Given the description of an element on the screen output the (x, y) to click on. 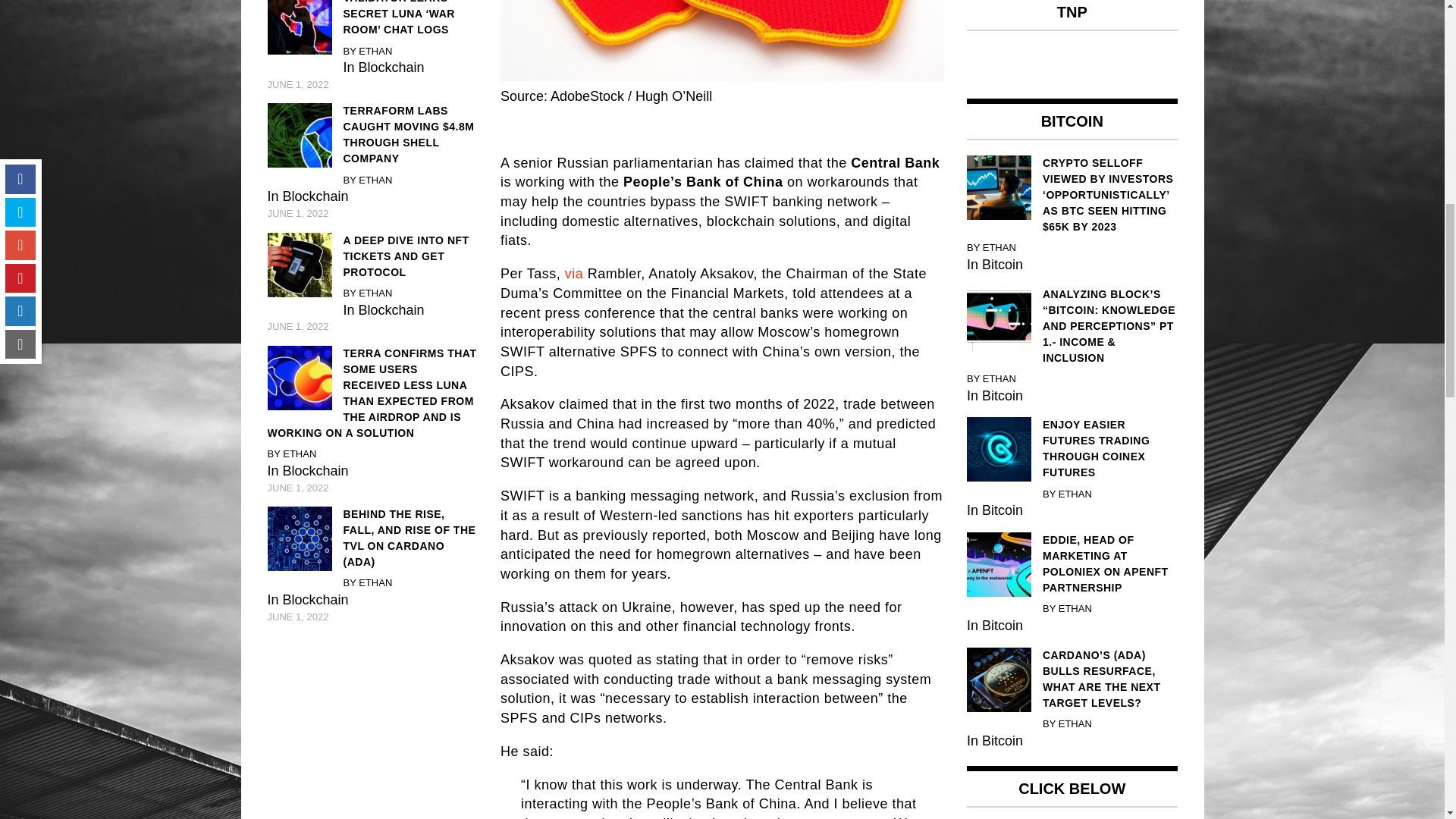
via (573, 273)
